Given the description of an element on the screen output the (x, y) to click on. 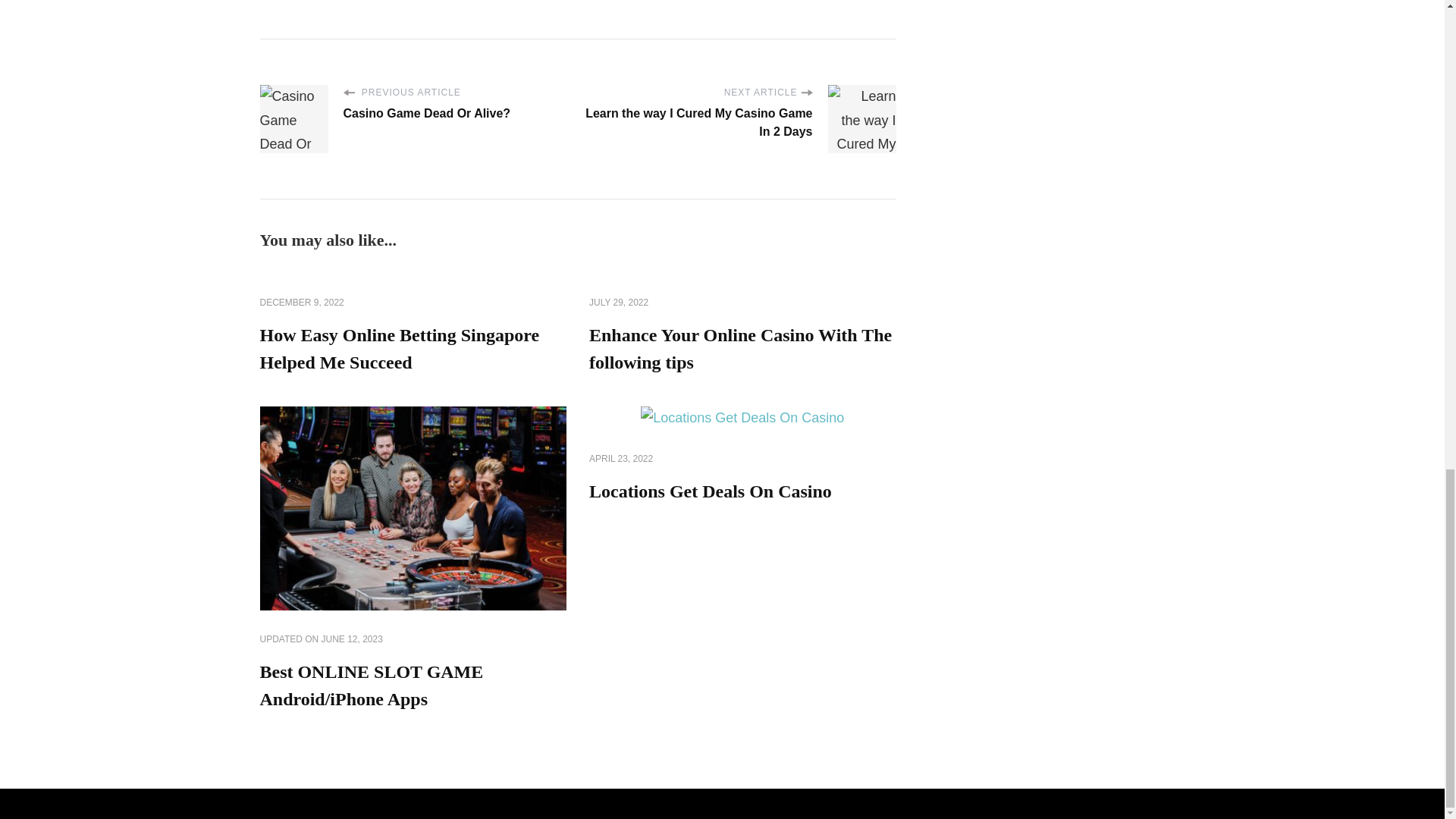
How Easy Online Betting Singapore Helped Me Succeed (398, 348)
DECEMBER 9, 2022 (301, 303)
JUNE 12, 2023 (351, 640)
JULY 29, 2022 (618, 303)
APRIL 23, 2022 (620, 459)
Enhance Your Online Casino With The following tips (740, 348)
Locations Get Deals On Casino (710, 491)
